Given the description of an element on the screen output the (x, y) to click on. 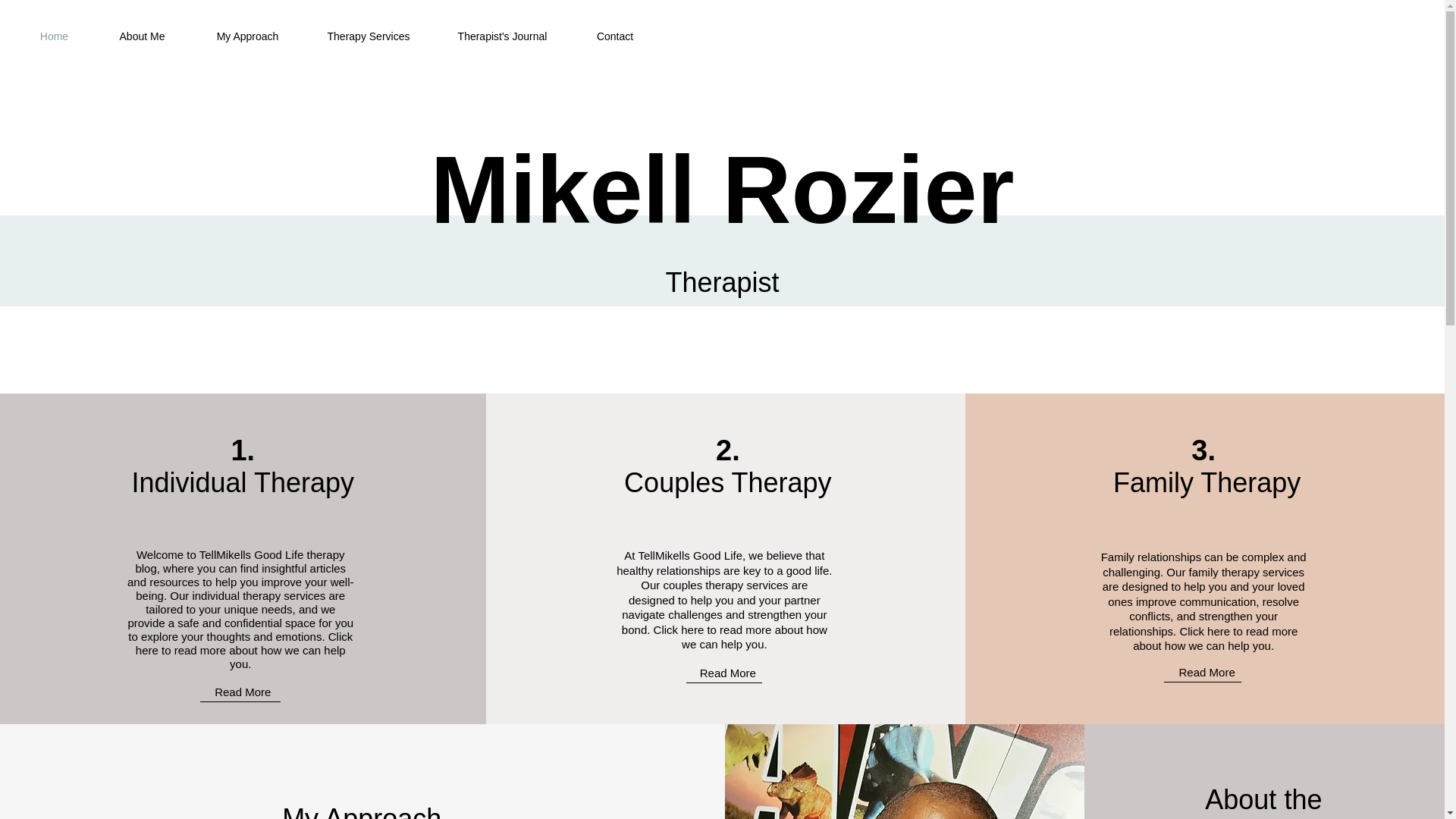
Read More (242, 691)
Read More (727, 671)
Therapist's Journal (502, 36)
Contact (615, 36)
My Approach (247, 36)
Read More (1206, 671)
About Me (141, 36)
Therapy Services (368, 36)
Home (53, 36)
